Given the description of an element on the screen output the (x, y) to click on. 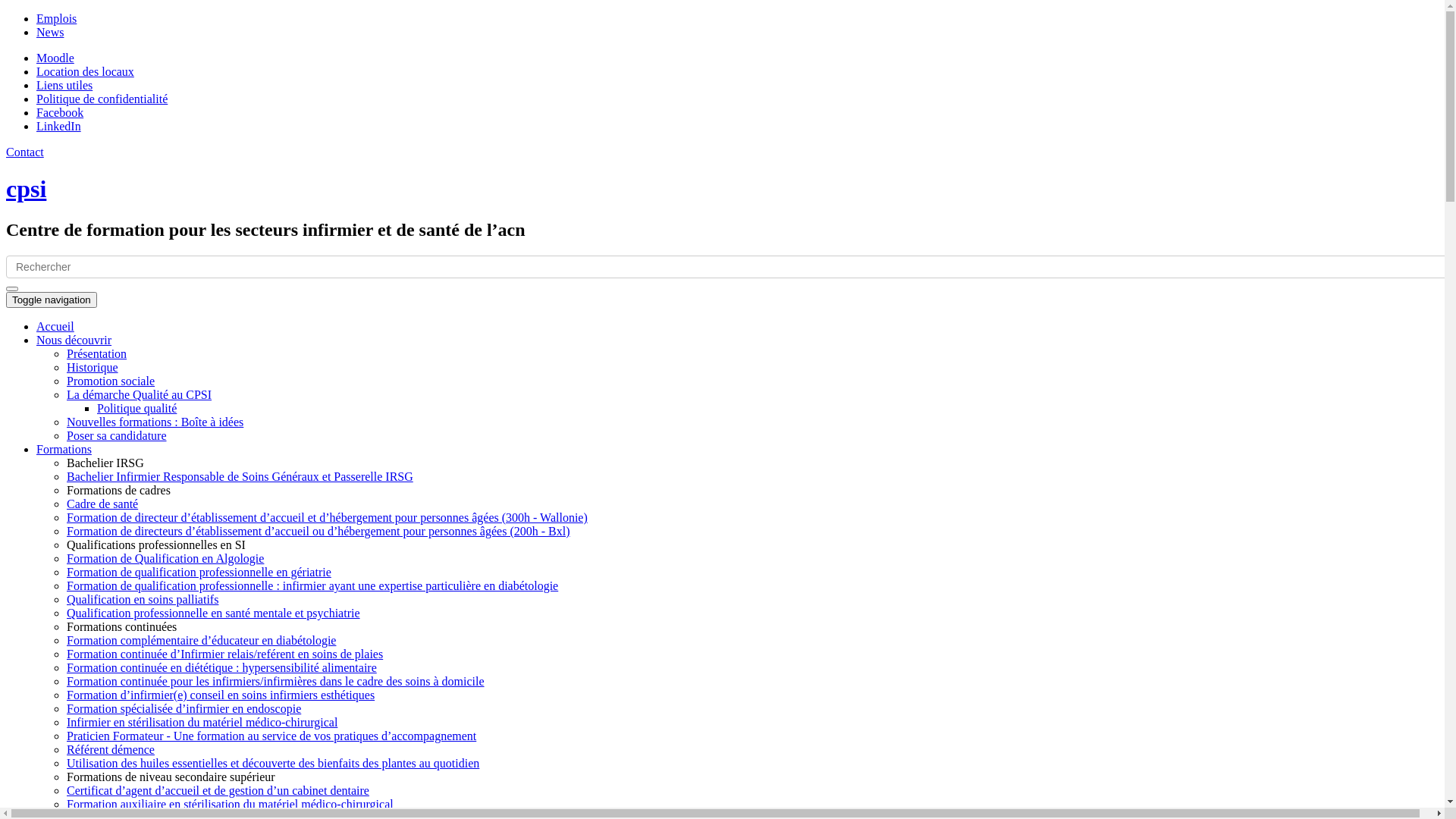
Qualification en soins palliatifs Element type: text (142, 599)
Accueil Element type: text (55, 326)
Formation de Qualification en Algologie Element type: text (164, 558)
Formations Element type: text (63, 448)
Emplois Element type: text (56, 18)
Liens utiles Element type: text (64, 84)
Toggle navigation Element type: text (51, 299)
Rechercher Element type: text (38, 293)
LinkedIn Element type: text (58, 125)
Moodle Element type: text (55, 57)
Promotion sociale Element type: text (110, 380)
News Element type: text (49, 31)
Poser sa candidature Element type: text (116, 435)
Facebook Element type: text (59, 112)
Location des locaux Element type: text (85, 71)
Historique Element type: text (92, 366)
cpsi Element type: text (26, 188)
Contact Element type: text (24, 151)
